Given the description of an element on the screen output the (x, y) to click on. 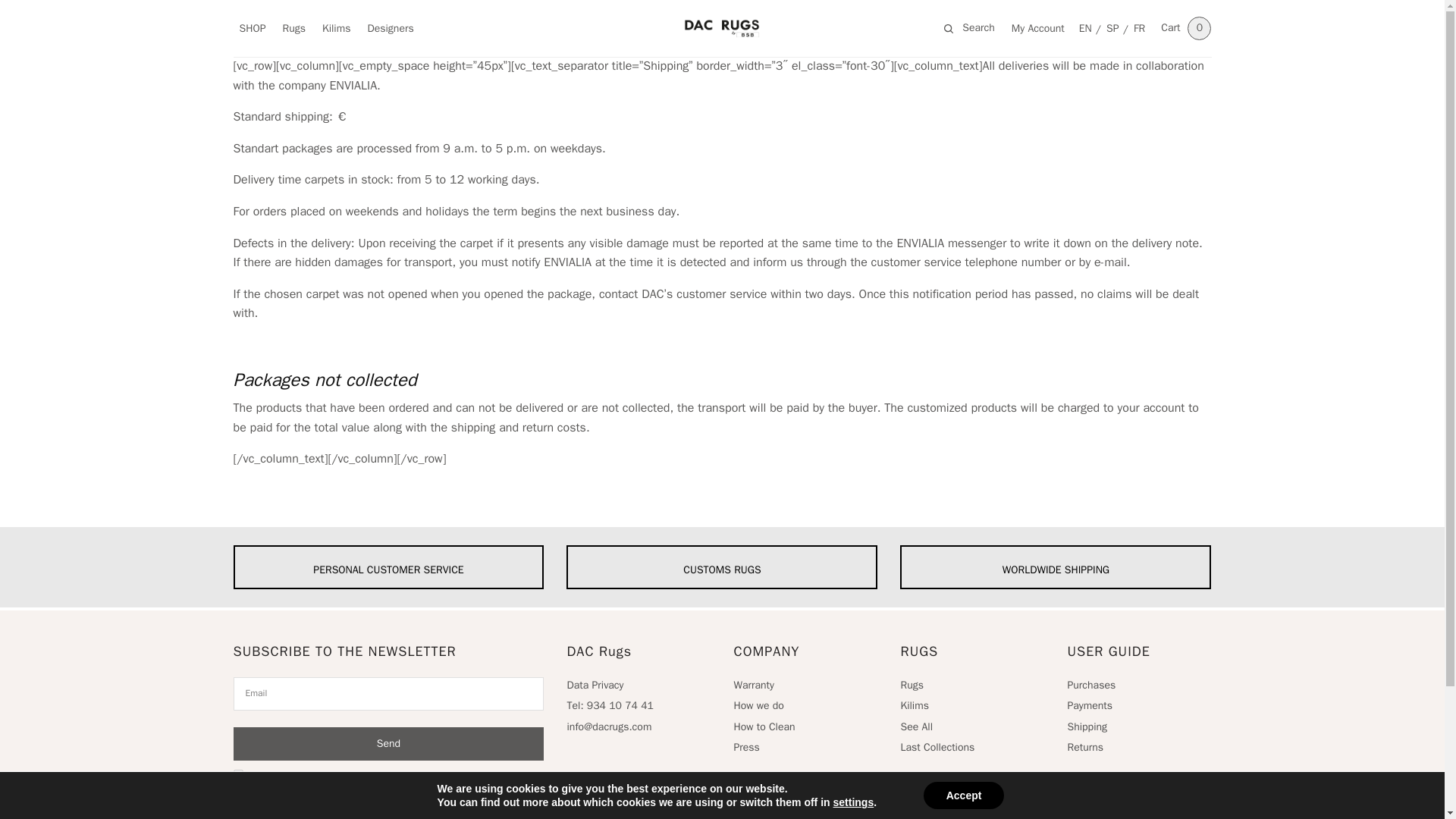
settings (853, 802)
Shop (249, 28)
My Account (1037, 28)
How we do (758, 705)
CUSTOMS RUGS (721, 566)
WORLDWIDE SHIPPING (1055, 566)
Returns (1085, 747)
Tel: 934 10 74 41 (609, 705)
Purchases (1091, 684)
Press (745, 747)
data confidentiality. (400, 776)
See All (916, 726)
Send (388, 743)
Search (14, 14)
Data Privacy (594, 684)
